Given the description of an element on the screen output the (x, y) to click on. 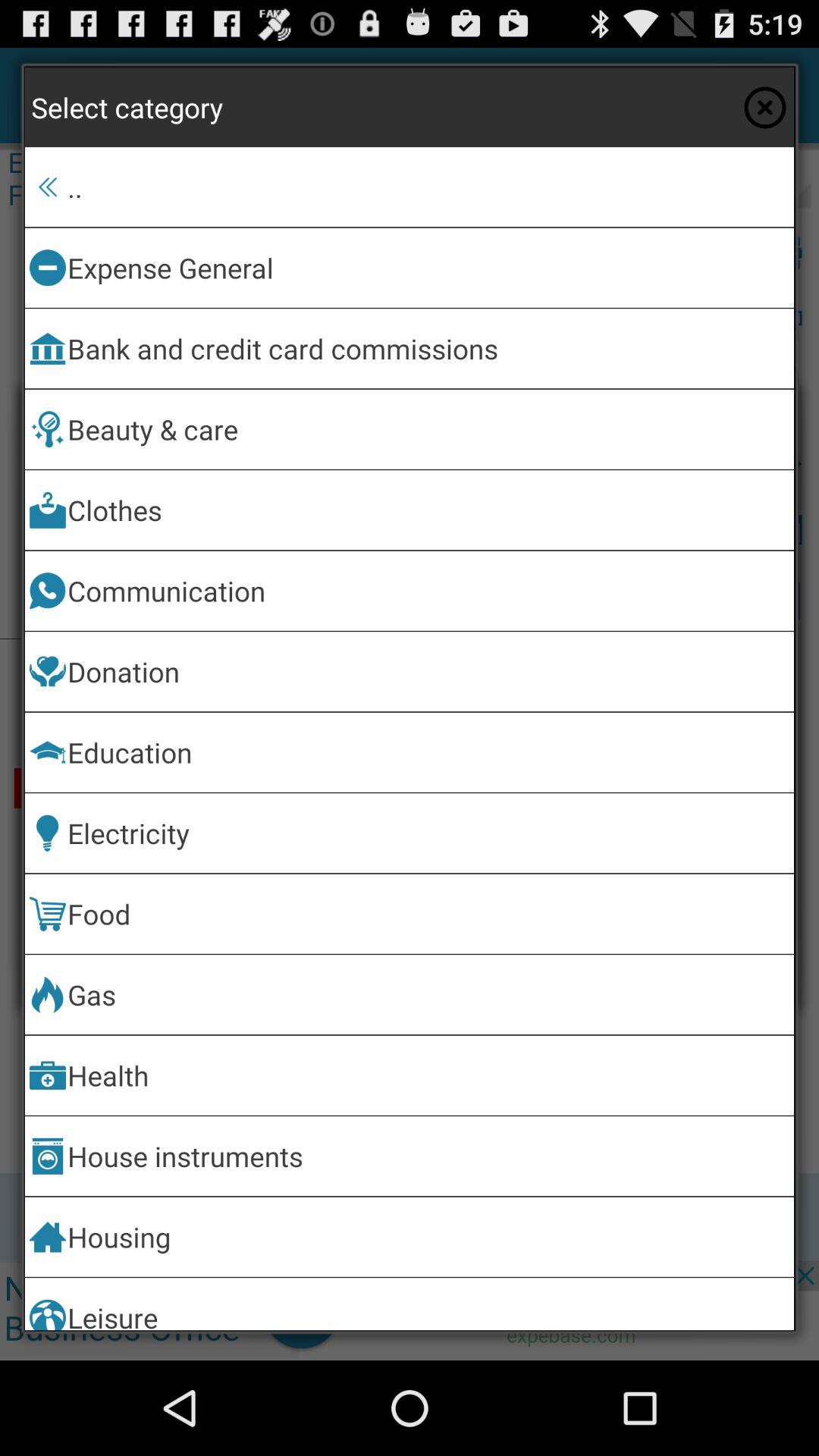
click icon below beauty & care item (427, 509)
